Given the description of an element on the screen output the (x, y) to click on. 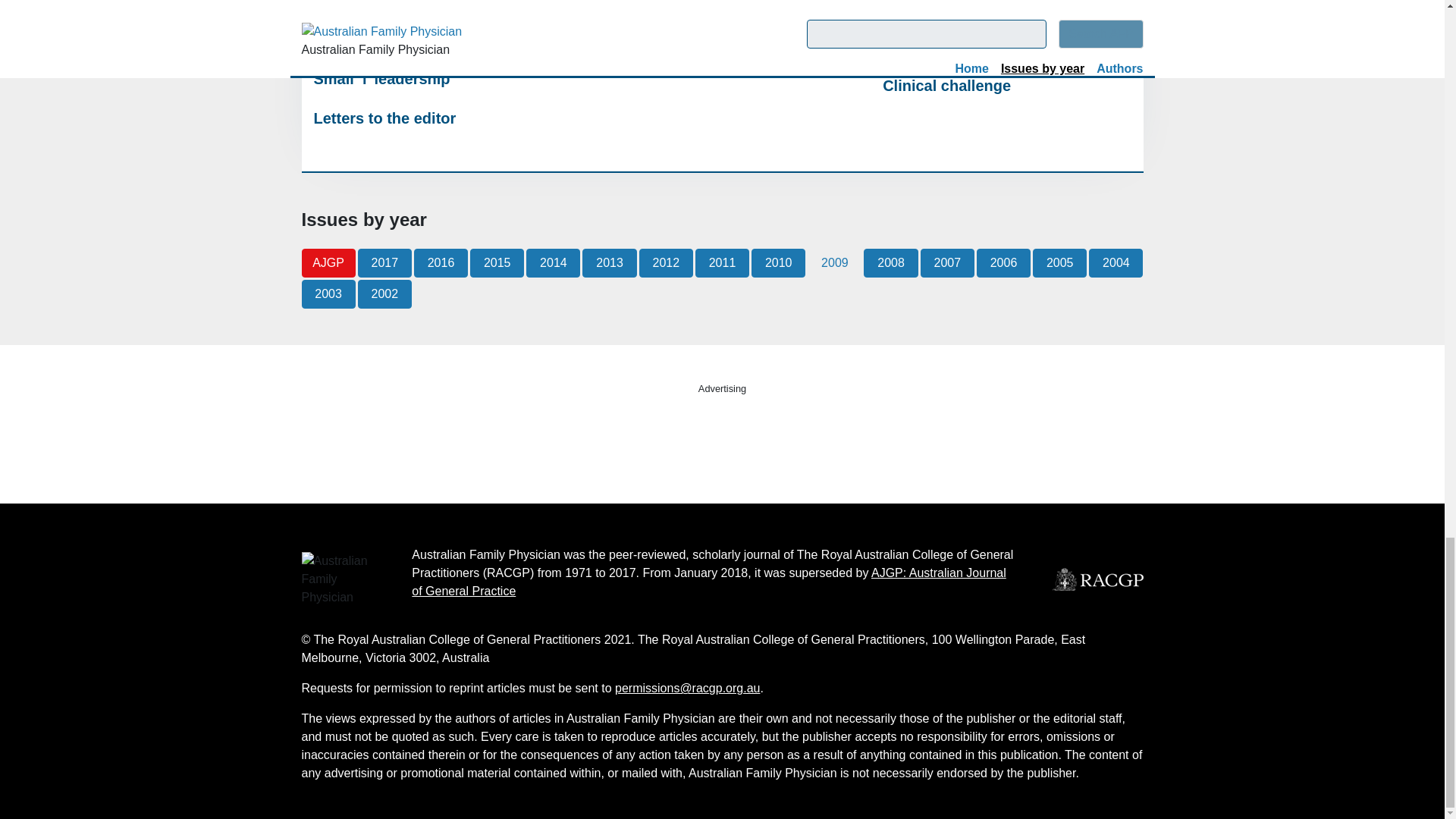
Book reviews (1006, 46)
Letters to the editor (438, 117)
Rural smokers. A prevention opportunity (721, 21)
Clinical challenge (1006, 85)
